Given the description of an element on the screen output the (x, y) to click on. 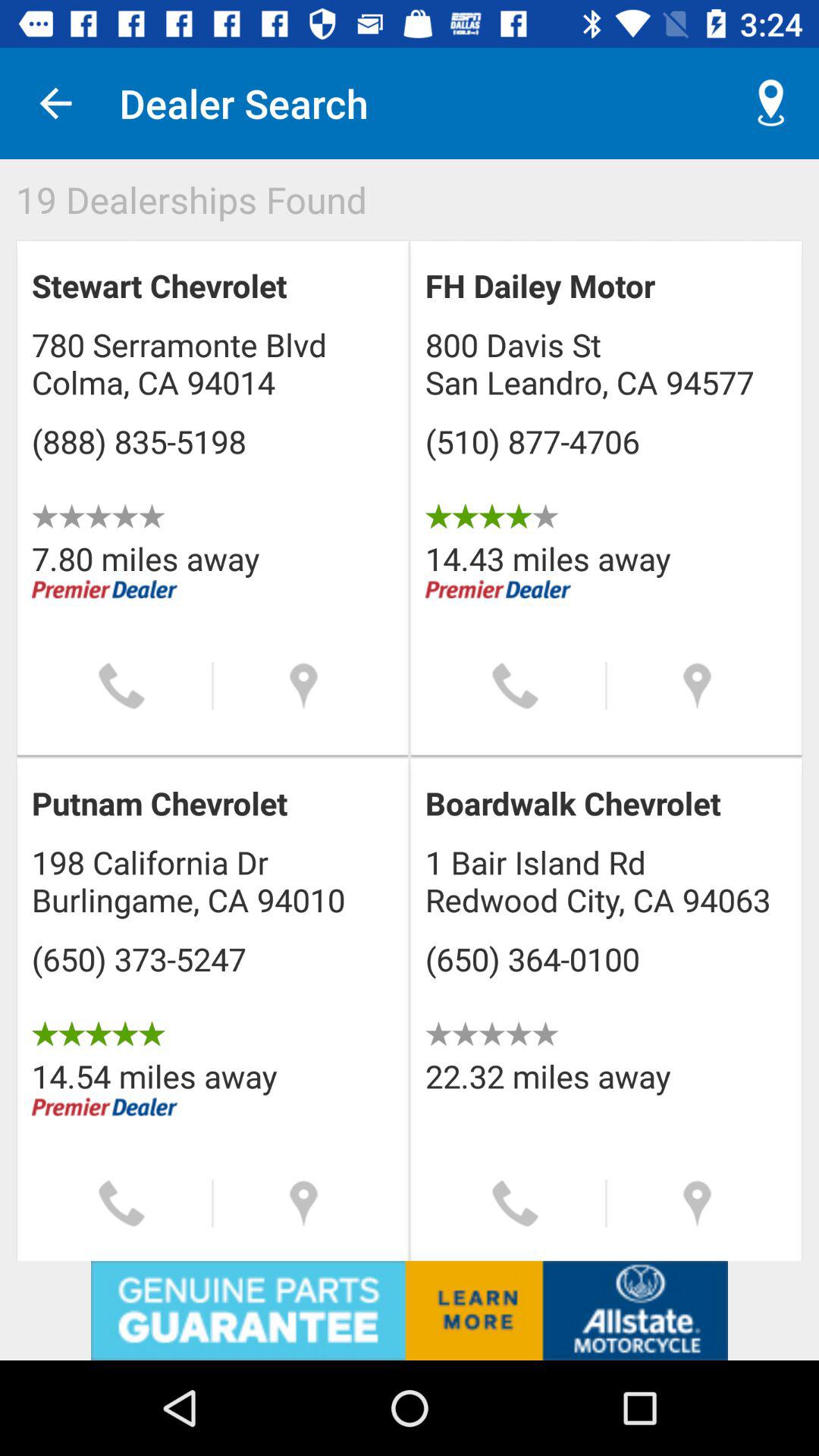
call the number (515, 685)
